Given the description of an element on the screen output the (x, y) to click on. 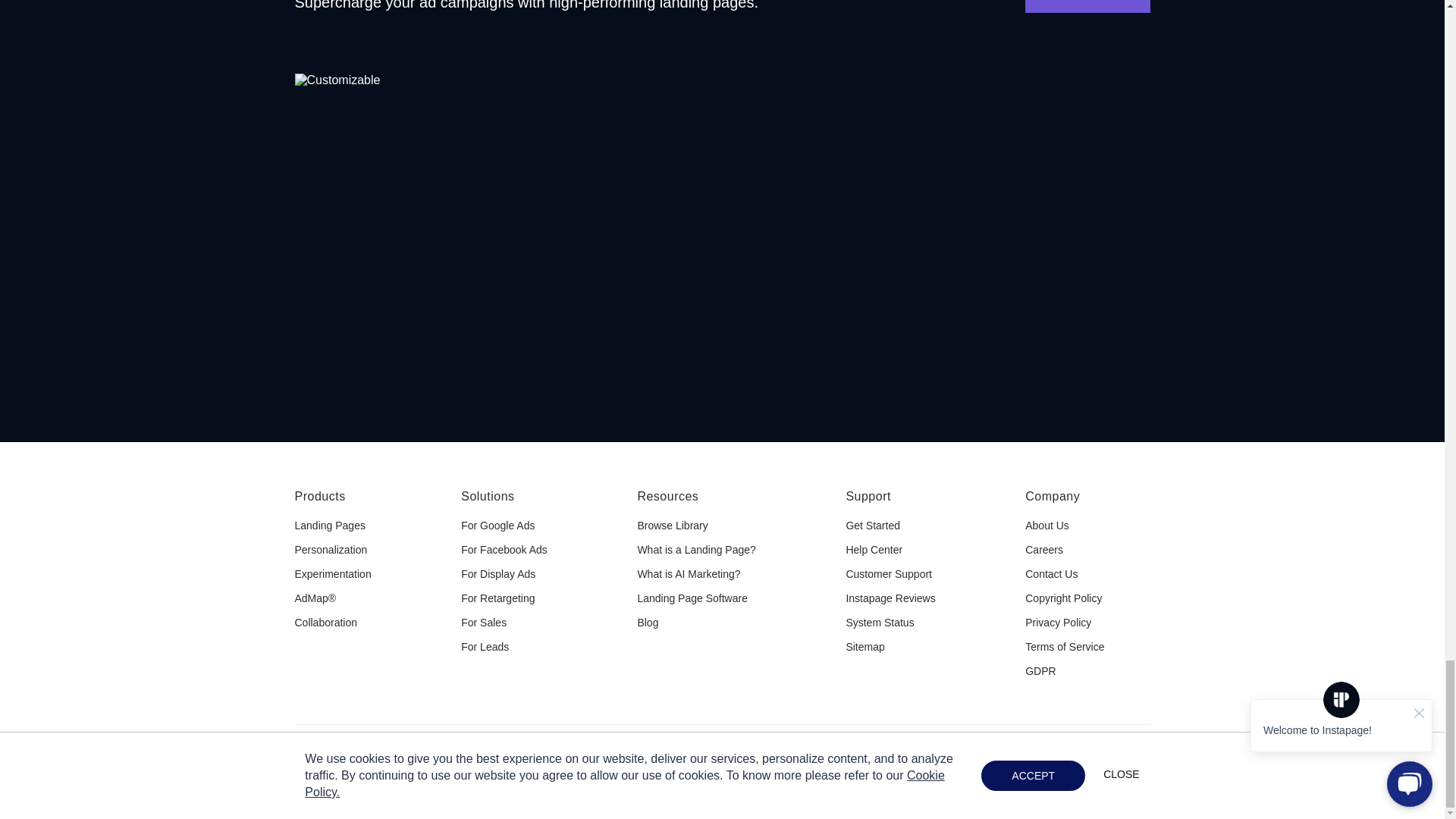
Get started (1087, 6)
